Given the description of an element on the screen output the (x, y) to click on. 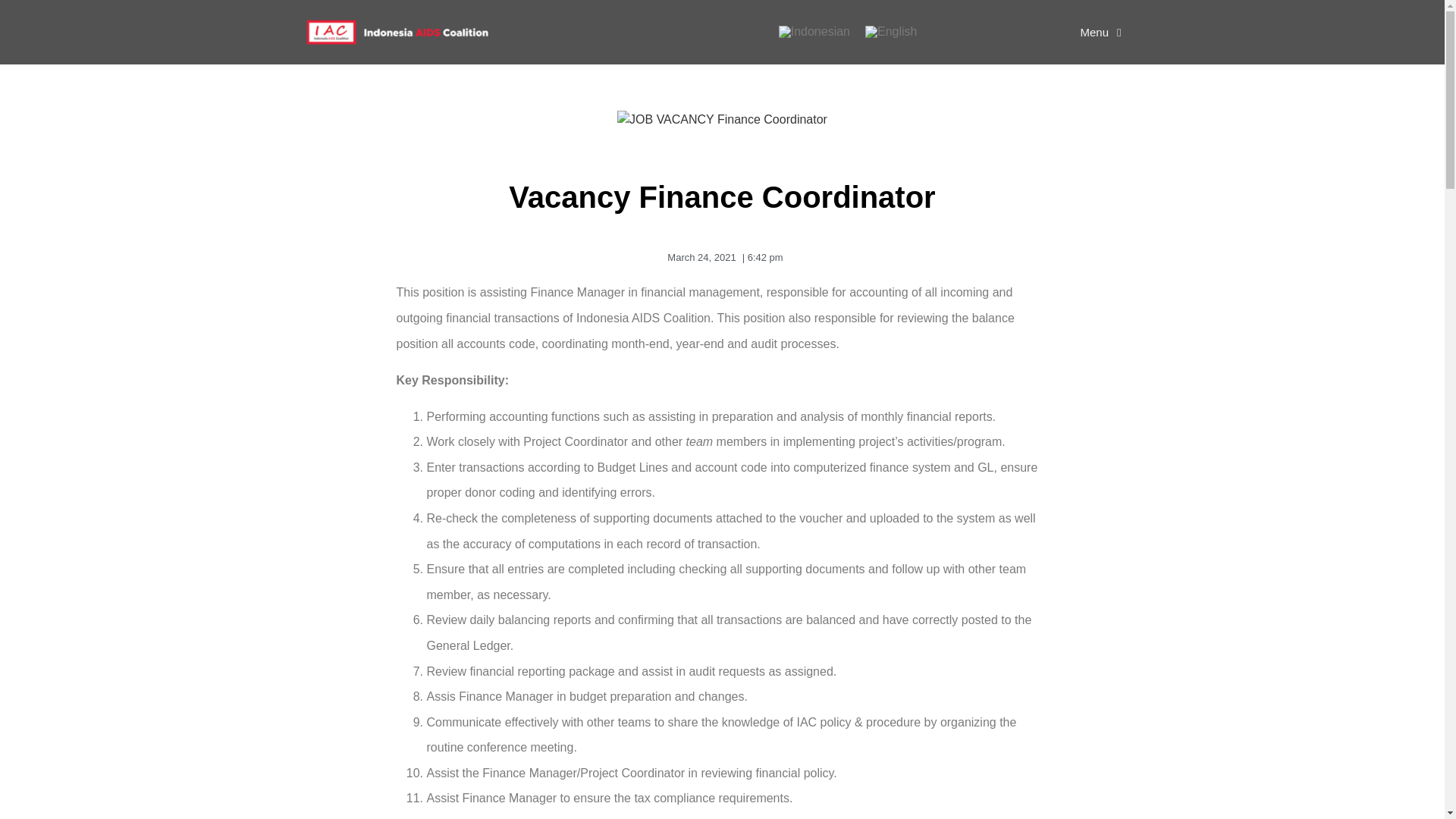
March 24, 2021 (698, 257)
Menu (1099, 21)
JOB VACANCY Finance Coordinator (722, 119)
